Given the description of an element on the screen output the (x, y) to click on. 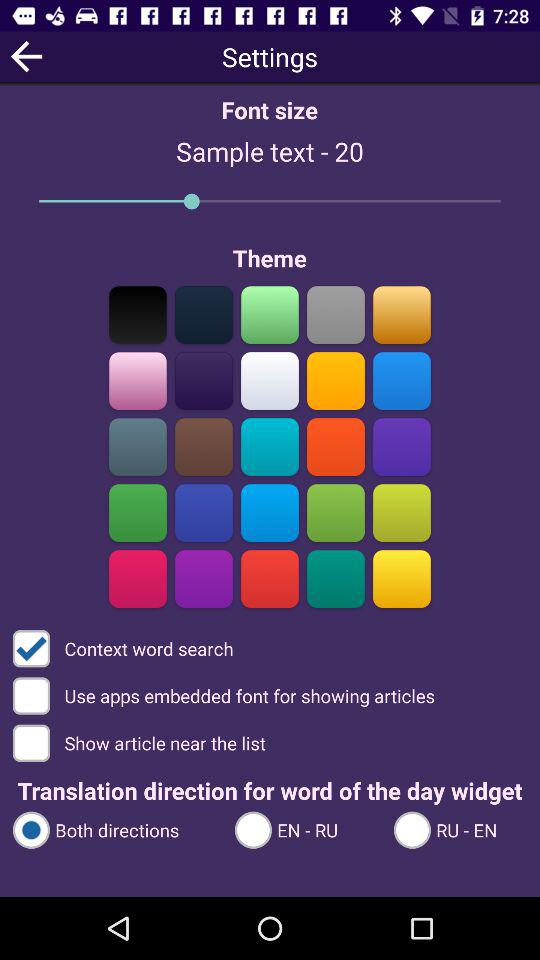
red font color (335, 446)
